Given the description of an element on the screen output the (x, y) to click on. 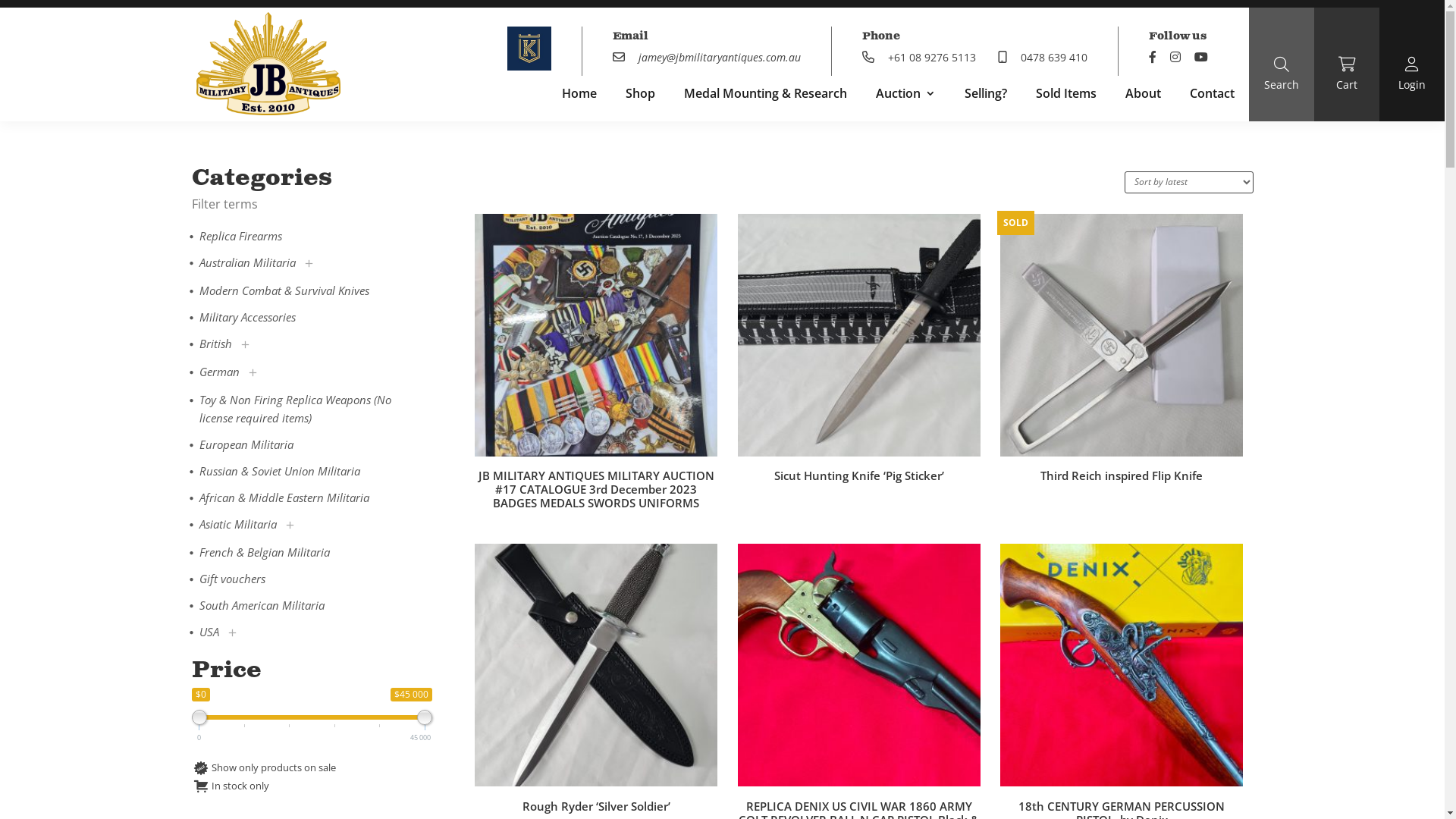
Sold Items Element type: text (1065, 95)
SOLD
Third Reich inspired Flip Knife Element type: text (1121, 368)
jamey@jbmilitaryantiques.com.au Element type: text (706, 57)
Selling? Element type: text (985, 95)
0478 639 410 Element type: text (1042, 57)
Contact Element type: text (1211, 95)
Shop Element type: text (640, 95)
JB Military Antiques RGB FOR SCREEN Element type: hover (267, 63)
Medal Mounting & Research Element type: text (765, 95)
Home Element type: text (578, 95)
About Element type: text (1143, 95)
Auction Element type: text (905, 95)
+61 08 9276 5113 Element type: text (918, 57)
